Given the description of an element on the screen output the (x, y) to click on. 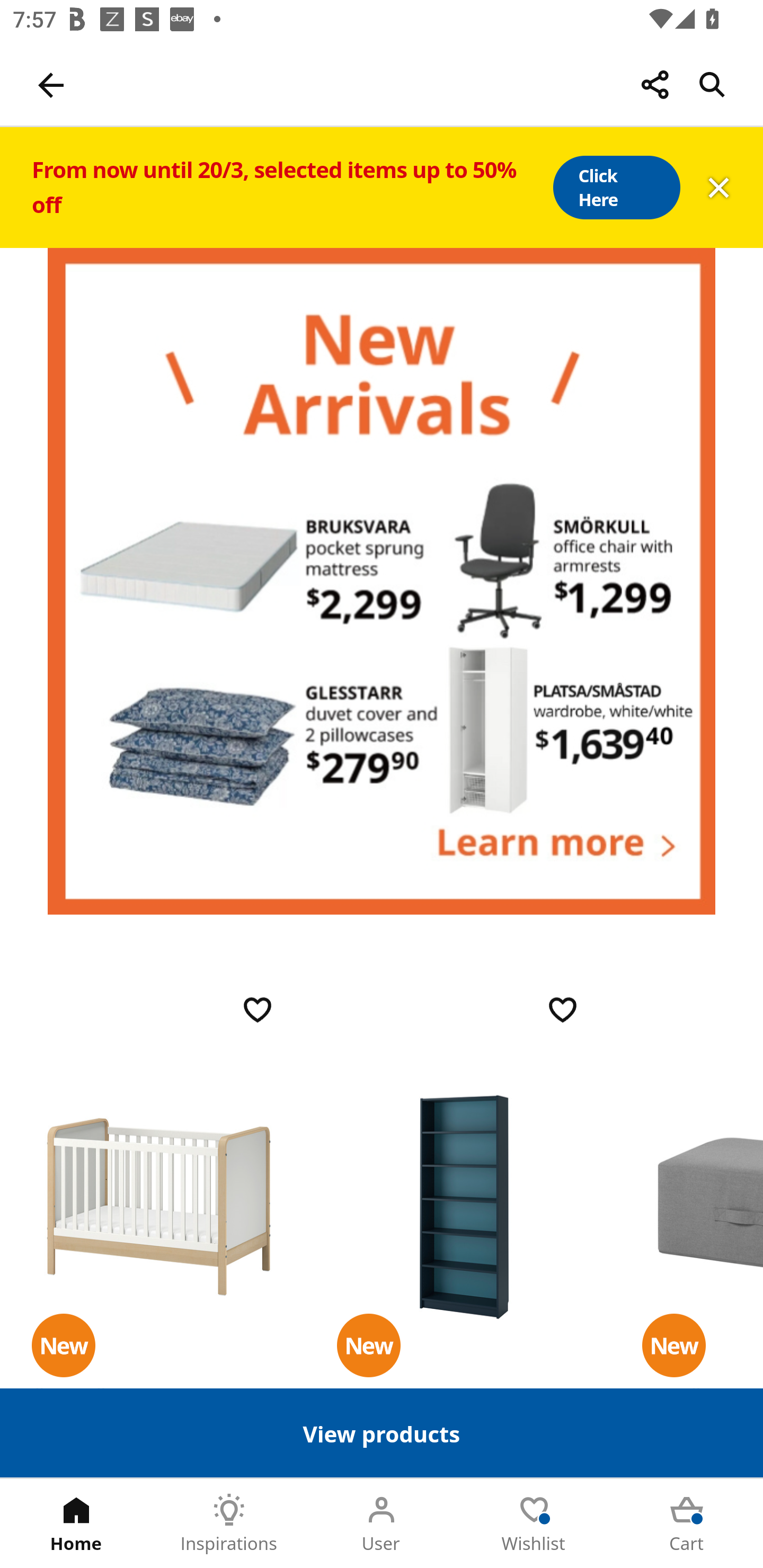
Click Here (615, 187)
newitems#shop-now (381, 580)
ÄLSKVÄRD (159, 1206)
BILLY (464, 1206)
VITHÄLL (702, 1206)
View products (381, 1432)
Home
Tab 1 of 5 (76, 1522)
Inspirations
Tab 2 of 5 (228, 1522)
User
Tab 3 of 5 (381, 1522)
Wishlist
Tab 4 of 5 (533, 1522)
Cart
Tab 5 of 5 (686, 1522)
